Given the description of an element on the screen output the (x, y) to click on. 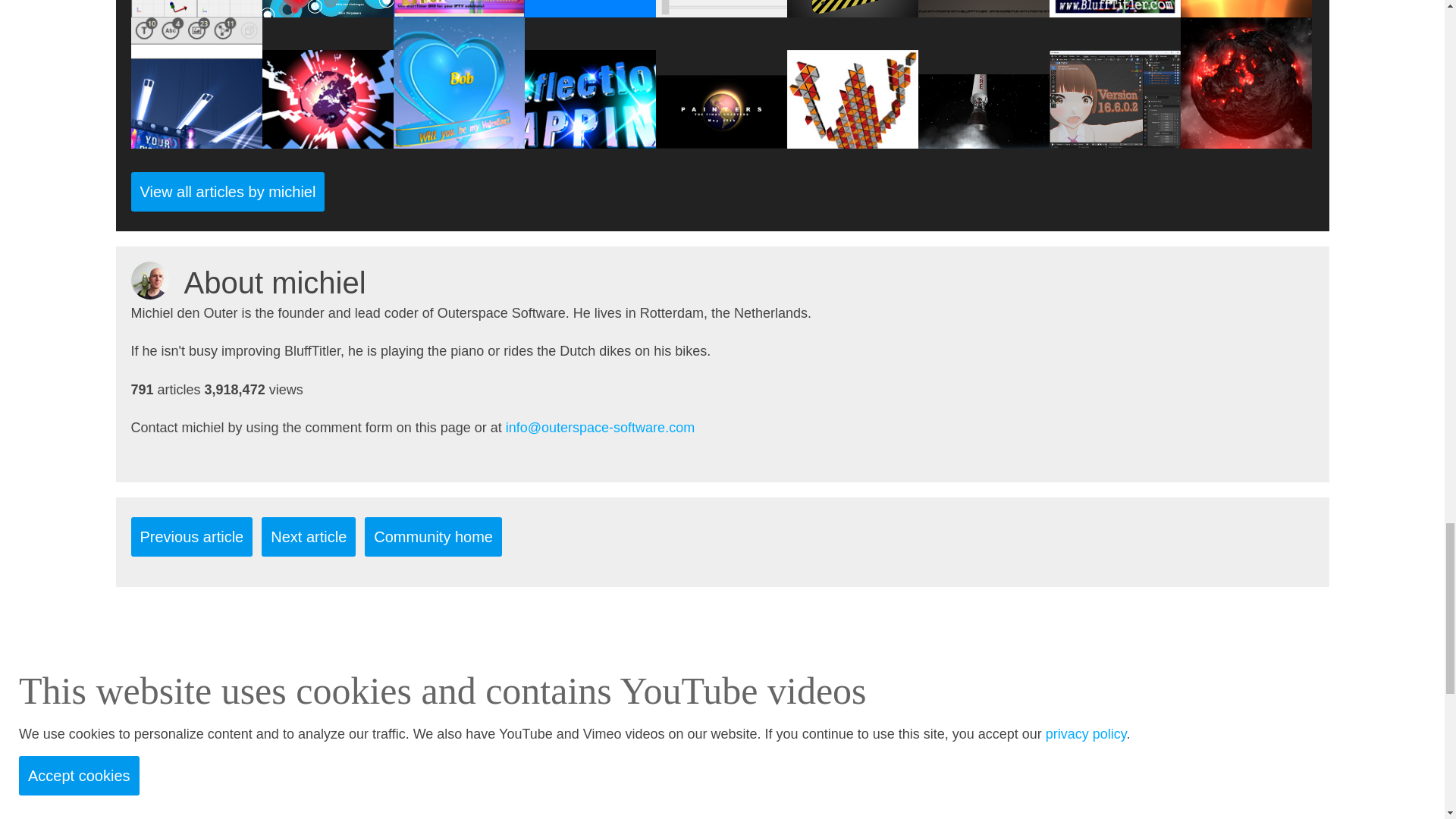
Modern bright colourful animated background (327, 7)
Version 8.3.1 introduces multiple viewports! (196, 7)
Connectivity (458, 7)
